Given the description of an element on the screen output the (x, y) to click on. 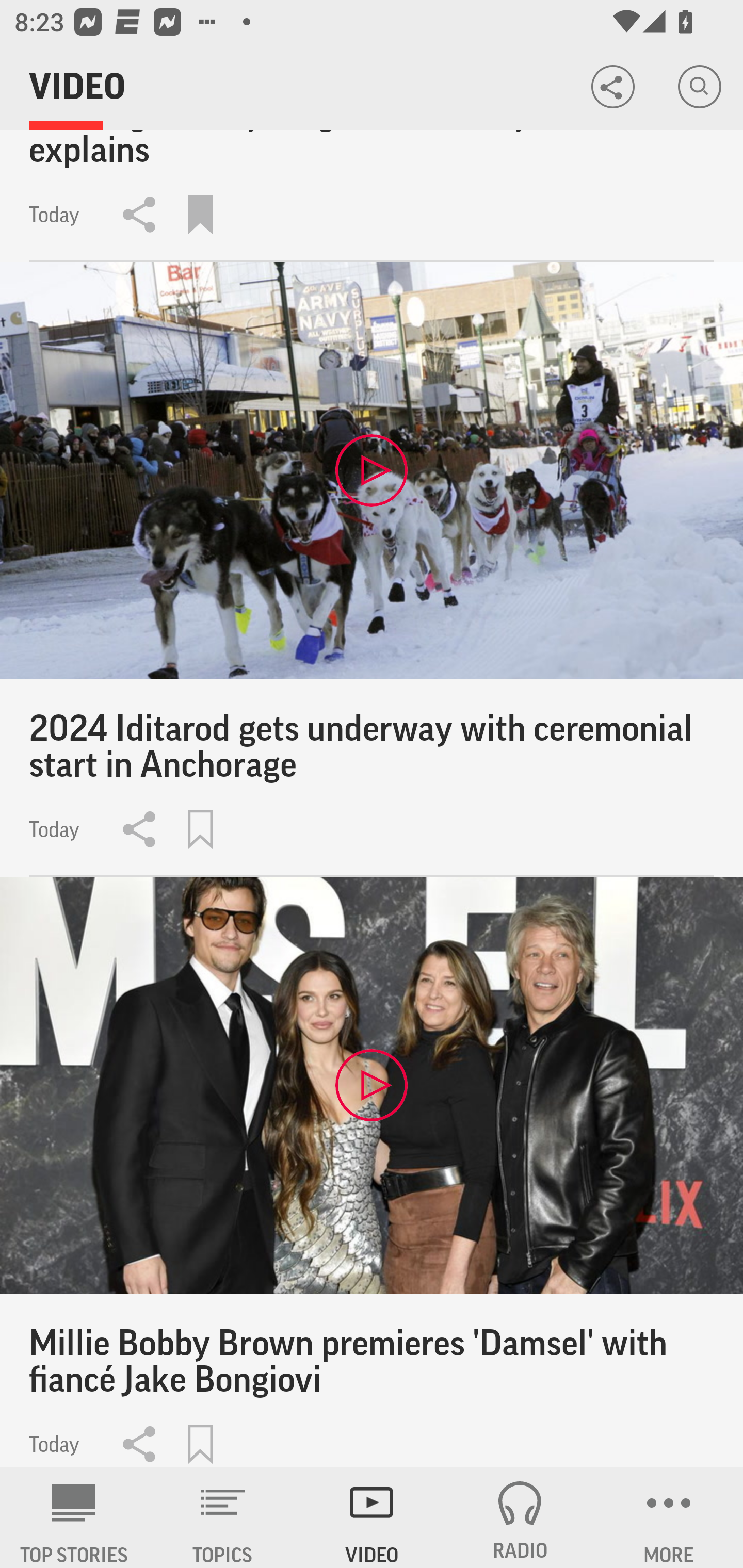
AP News TOP STORIES (74, 1517)
TOPICS (222, 1517)
VIDEO (371, 1517)
RADIO (519, 1517)
MORE (668, 1517)
